Given the description of an element on the screen output the (x, y) to click on. 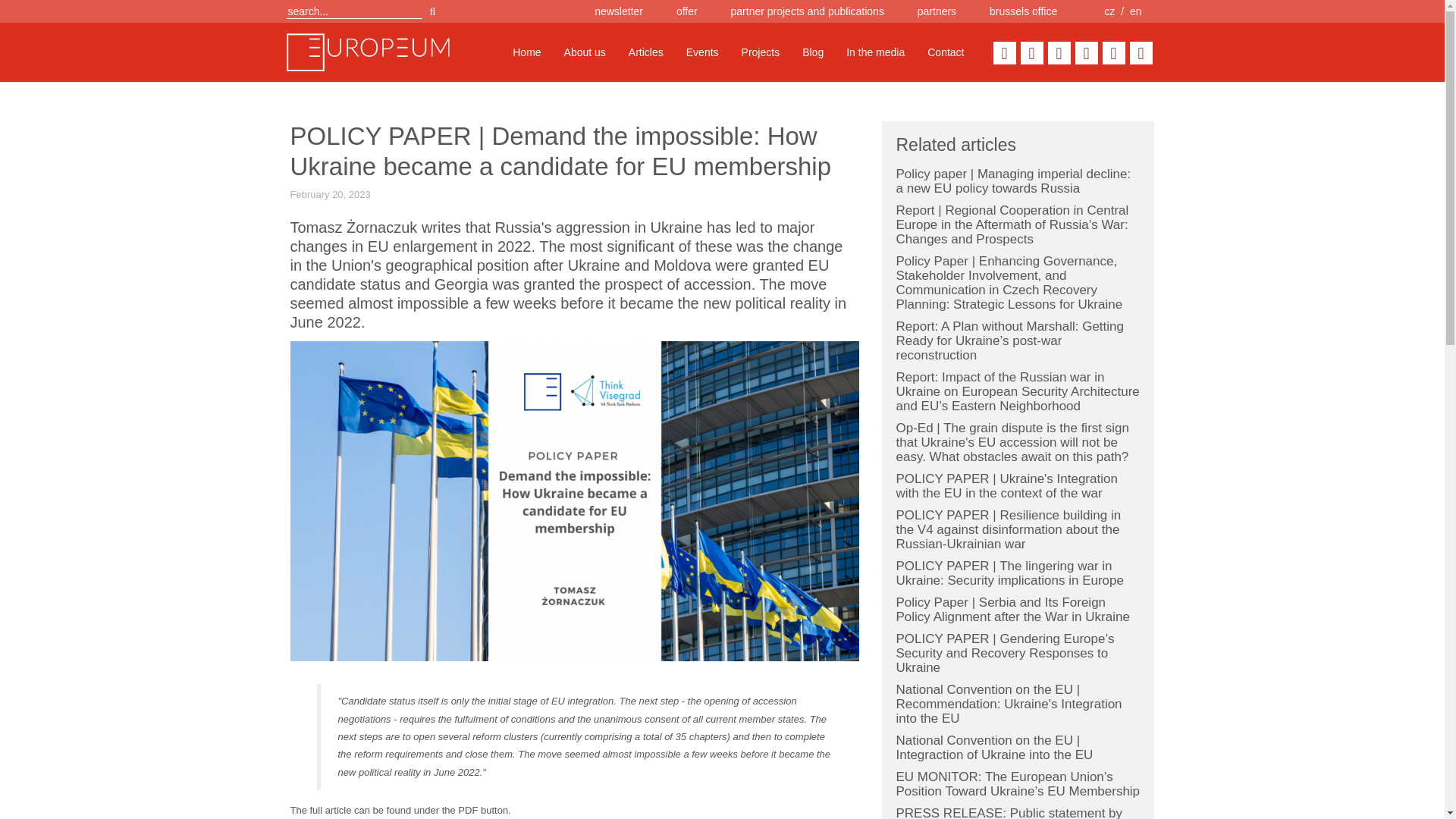
In the media (874, 51)
partners (936, 10)
partner projects and publications (806, 10)
Contact (945, 51)
en (1135, 10)
Events (702, 51)
newsletter (618, 10)
Projects (761, 51)
Articles (646, 51)
newsletter (618, 10)
About us (585, 51)
Home (525, 51)
brussels office (1023, 10)
offer (687, 10)
